Given the description of an element on the screen output the (x, y) to click on. 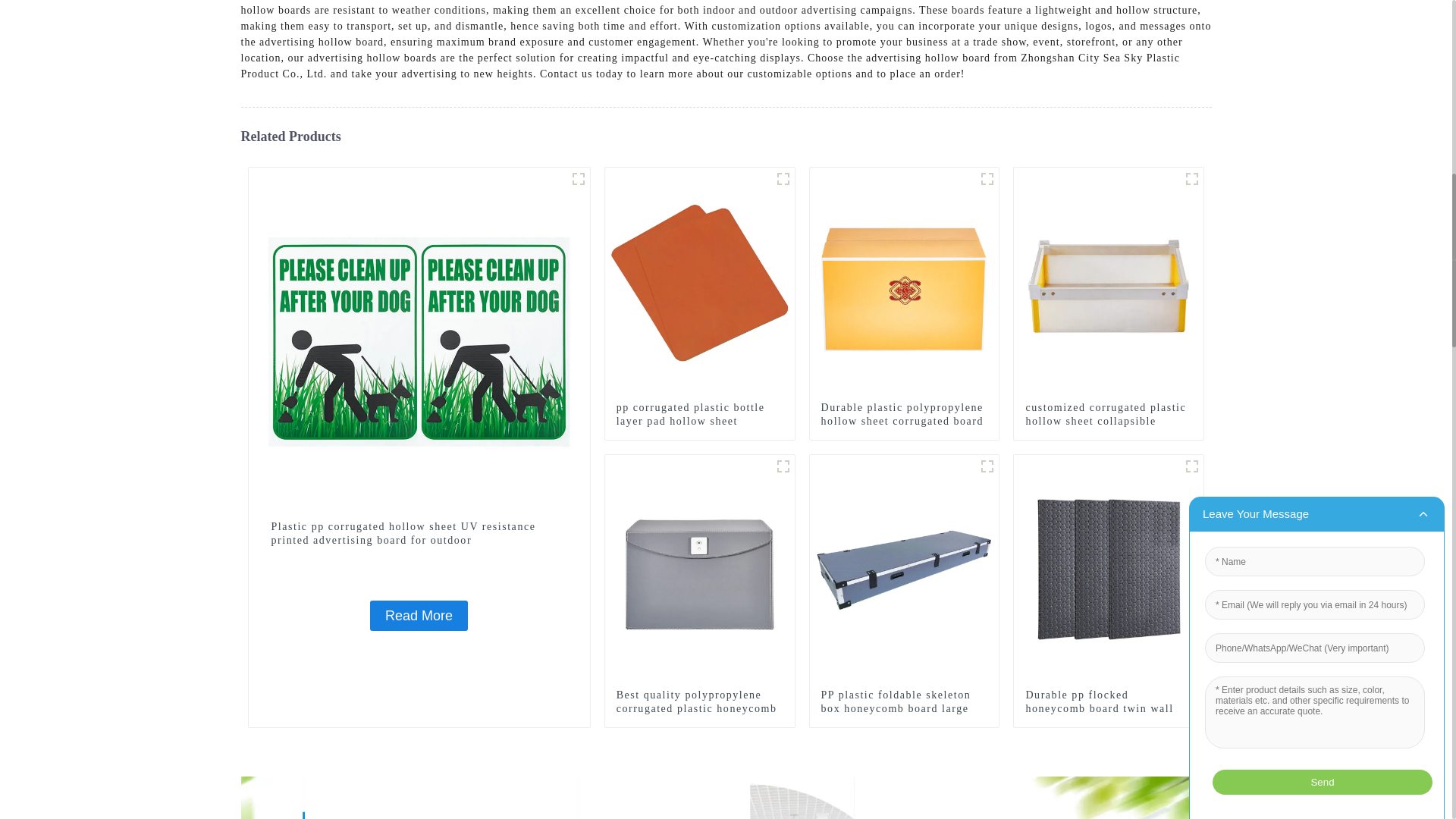
1 (986, 466)
Read More (418, 615)
